Given the description of an element on the screen output the (x, y) to click on. 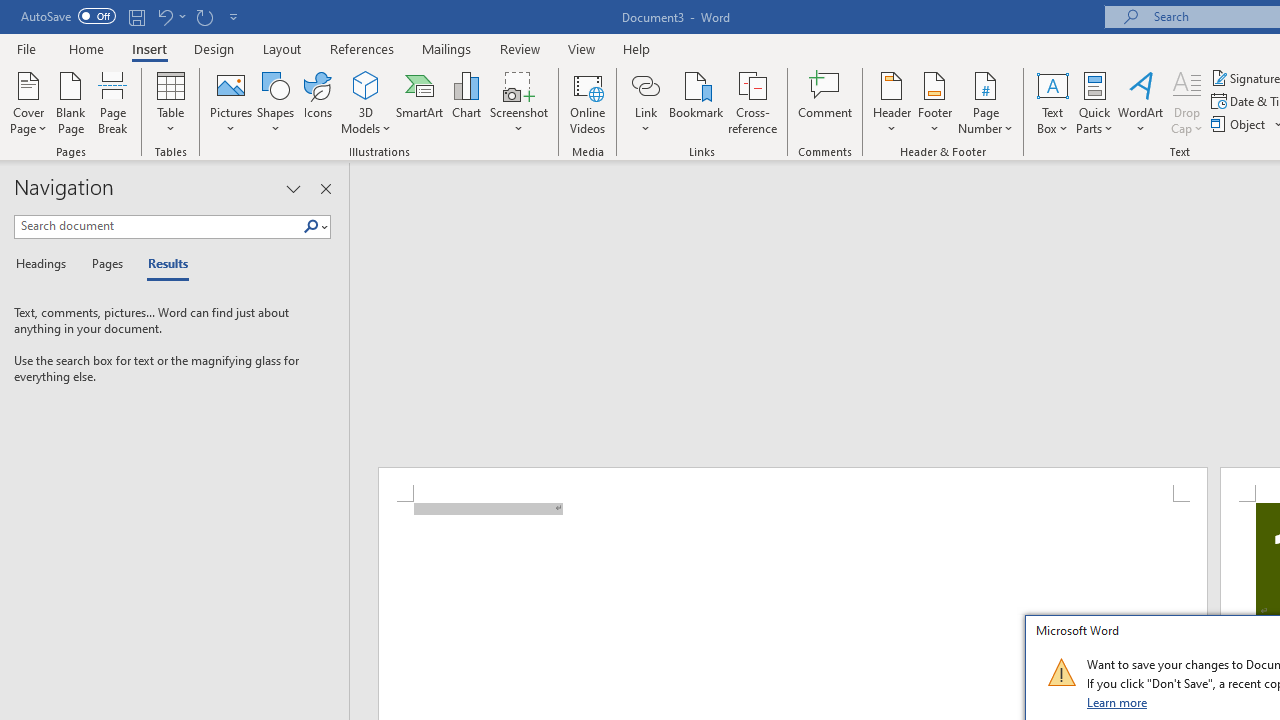
Page Number (986, 102)
3D Models (366, 102)
Drop Cap (1187, 102)
Table (170, 102)
Close pane (325, 188)
SmartArt... (419, 102)
Learn more (1118, 702)
Chart... (466, 102)
Text Box (1052, 102)
